Given the description of an element on the screen output the (x, y) to click on. 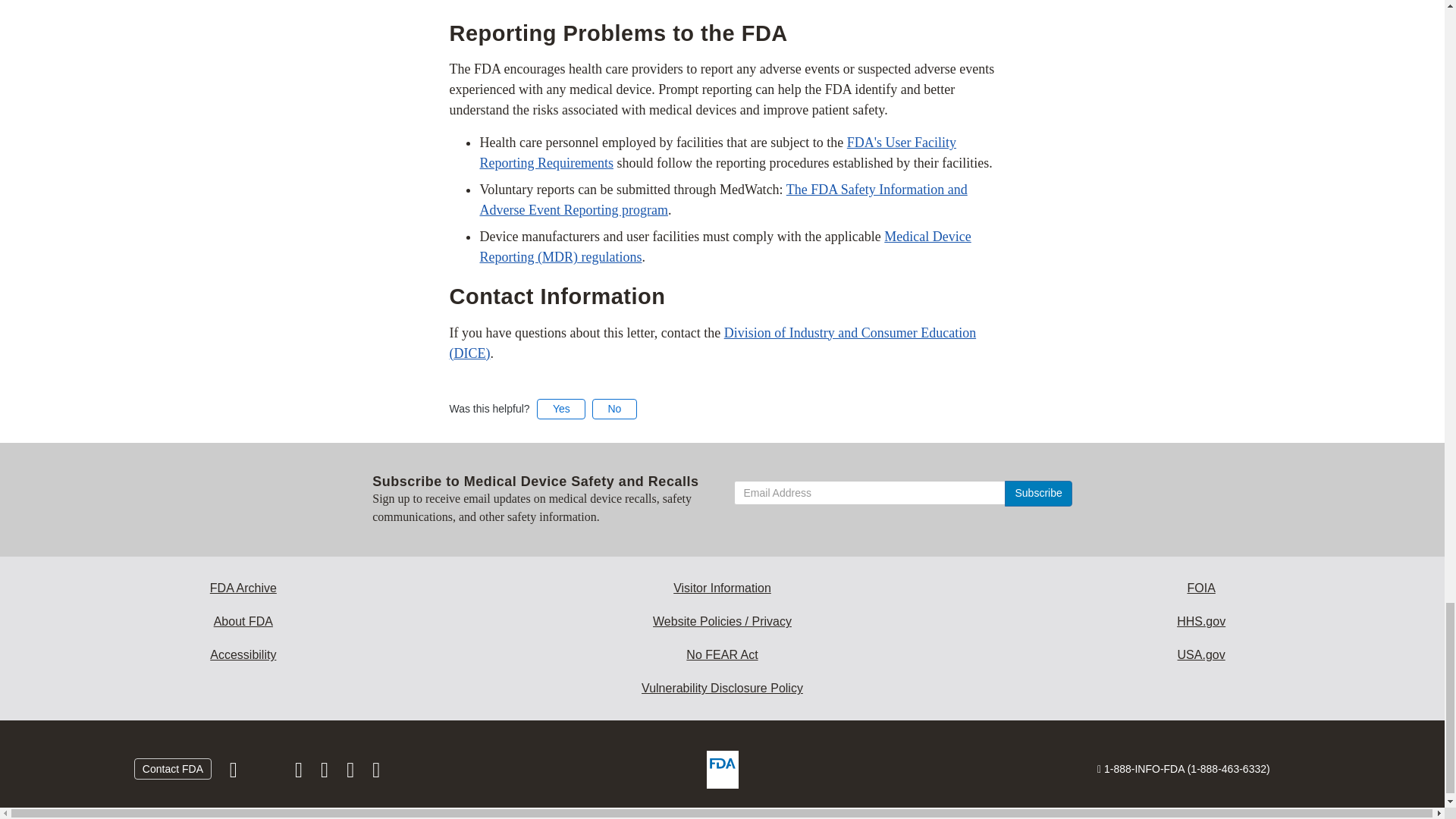
Subscribe (1037, 493)
No (614, 408)
Reporting Serious Problems to FDA (722, 199)
Follow FDA on Facebook (234, 773)
Follow FDA on X (266, 773)
Freedom of Information Act (1200, 588)
Yes (561, 408)
Health and Human Services (1200, 621)
